Given the description of an element on the screen output the (x, y) to click on. 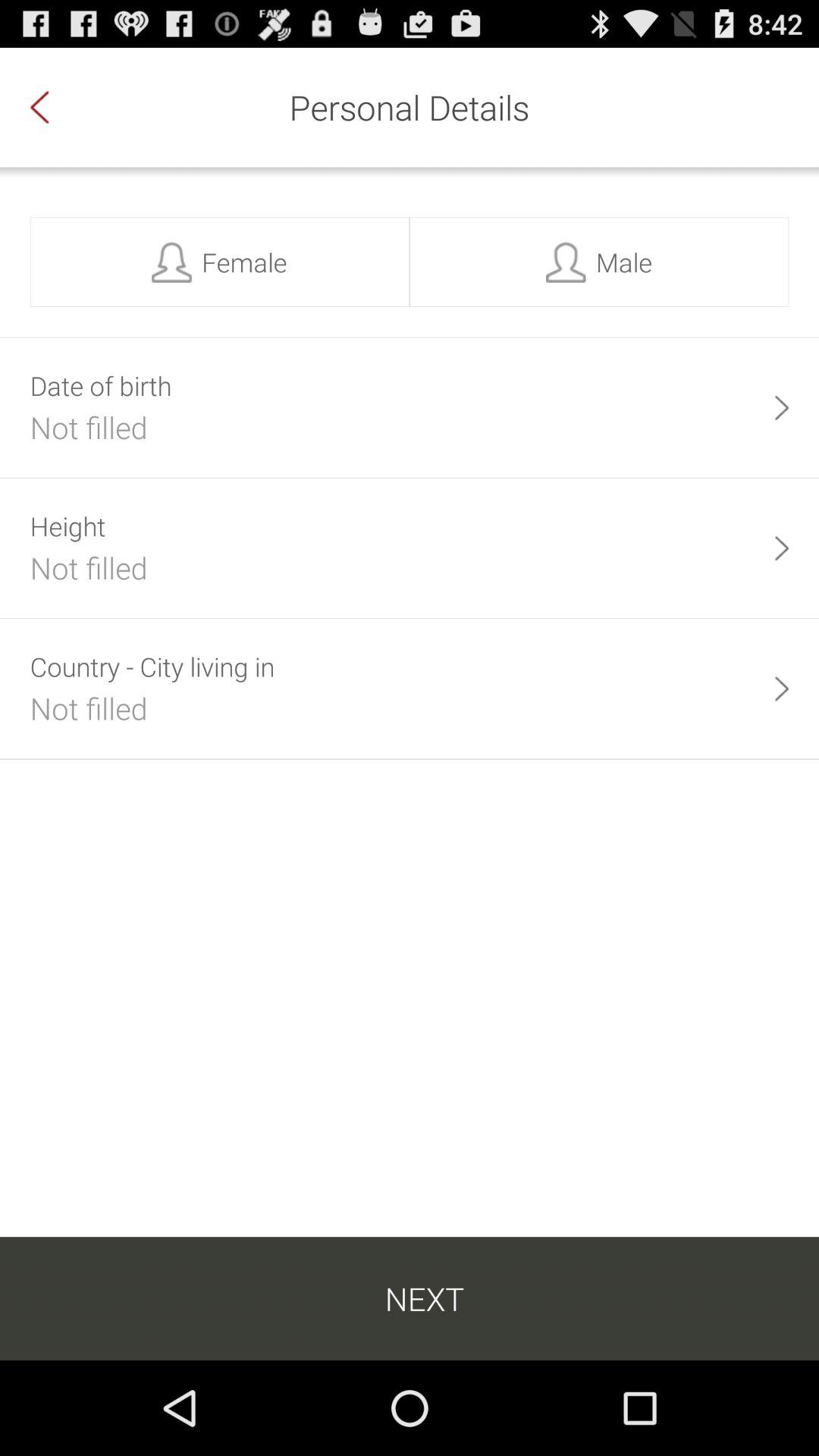
open the item next to the country city living item (781, 688)
